Given the description of an element on the screen output the (x, y) to click on. 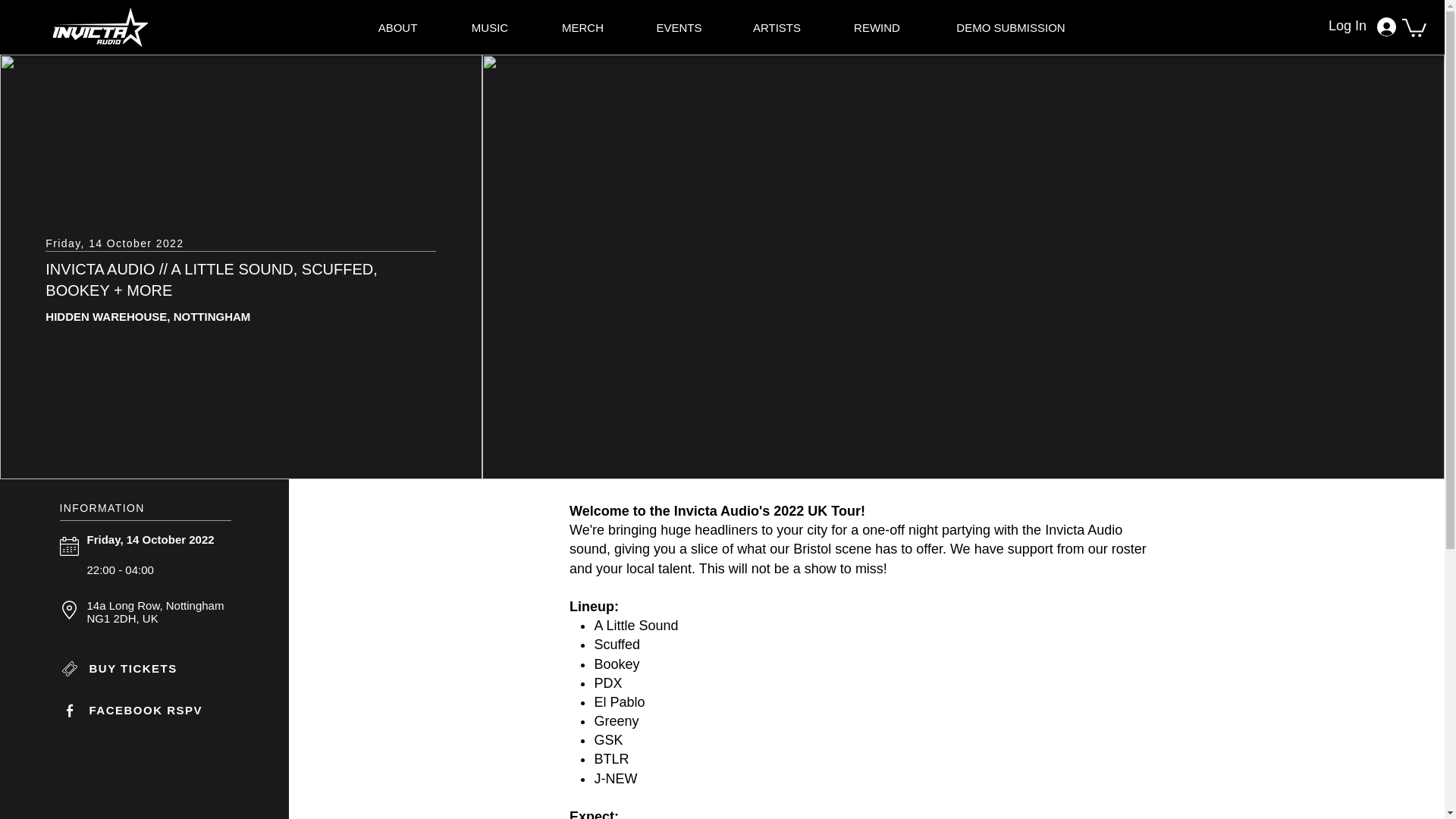
ABOUT (397, 27)
MERCH (582, 27)
MUSIC (489, 27)
REWIND (877, 27)
ARTISTS (777, 27)
EVENTS (679, 27)
DEMO SUBMISSION (1011, 27)
BUY TICKETS (147, 668)
FACEBOOK RSPV (147, 710)
Log In (1368, 26)
